Given the description of an element on the screen output the (x, y) to click on. 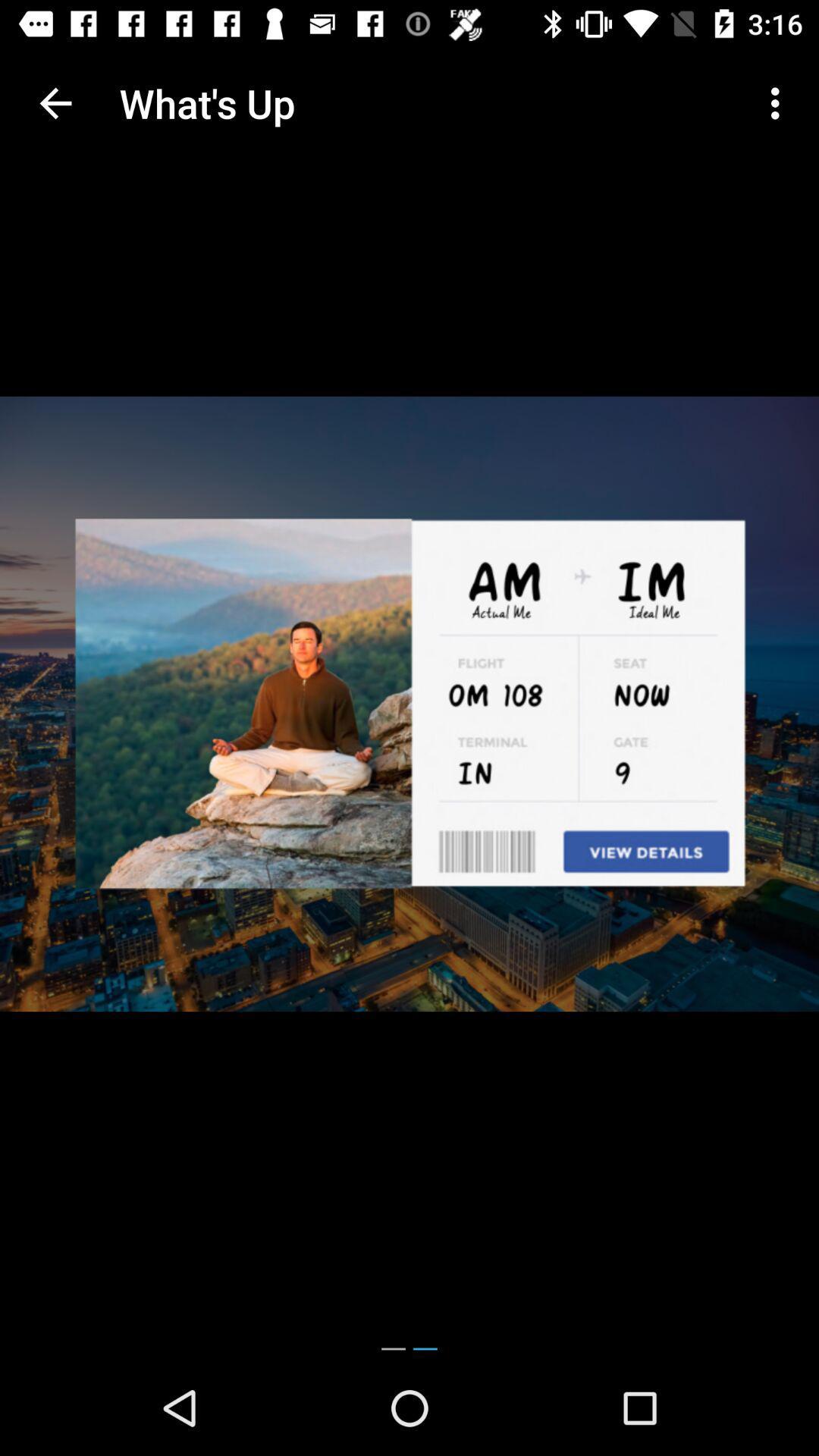
select item to the left of the what's up icon (55, 103)
